Given the description of an element on the screen output the (x, y) to click on. 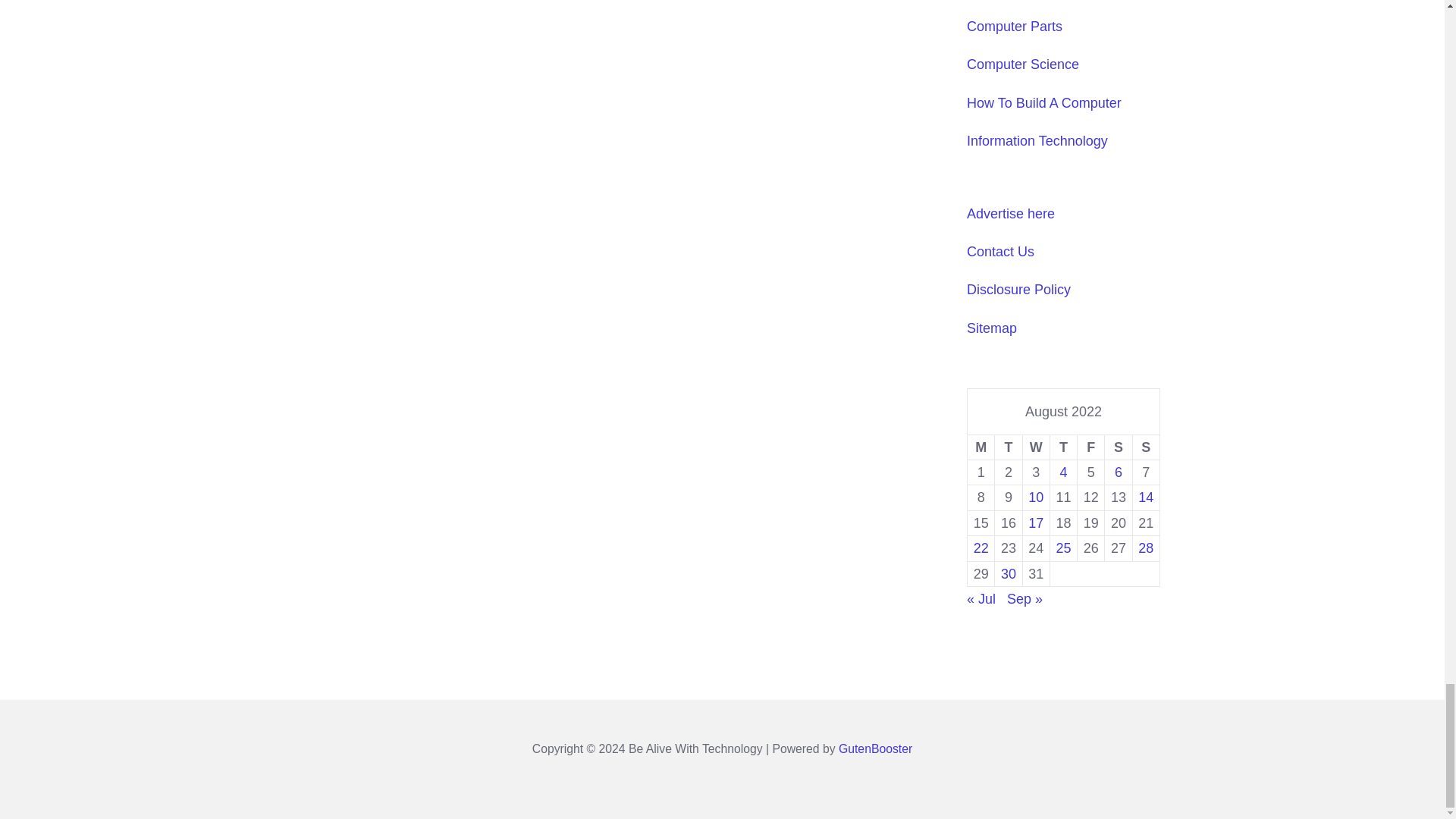
Tuesday (1008, 446)
Friday (1091, 446)
Monday (981, 446)
Saturday (1118, 446)
Sunday (1145, 446)
Thursday (1063, 446)
Wednesday (1035, 446)
